Given the description of an element on the screen output the (x, y) to click on. 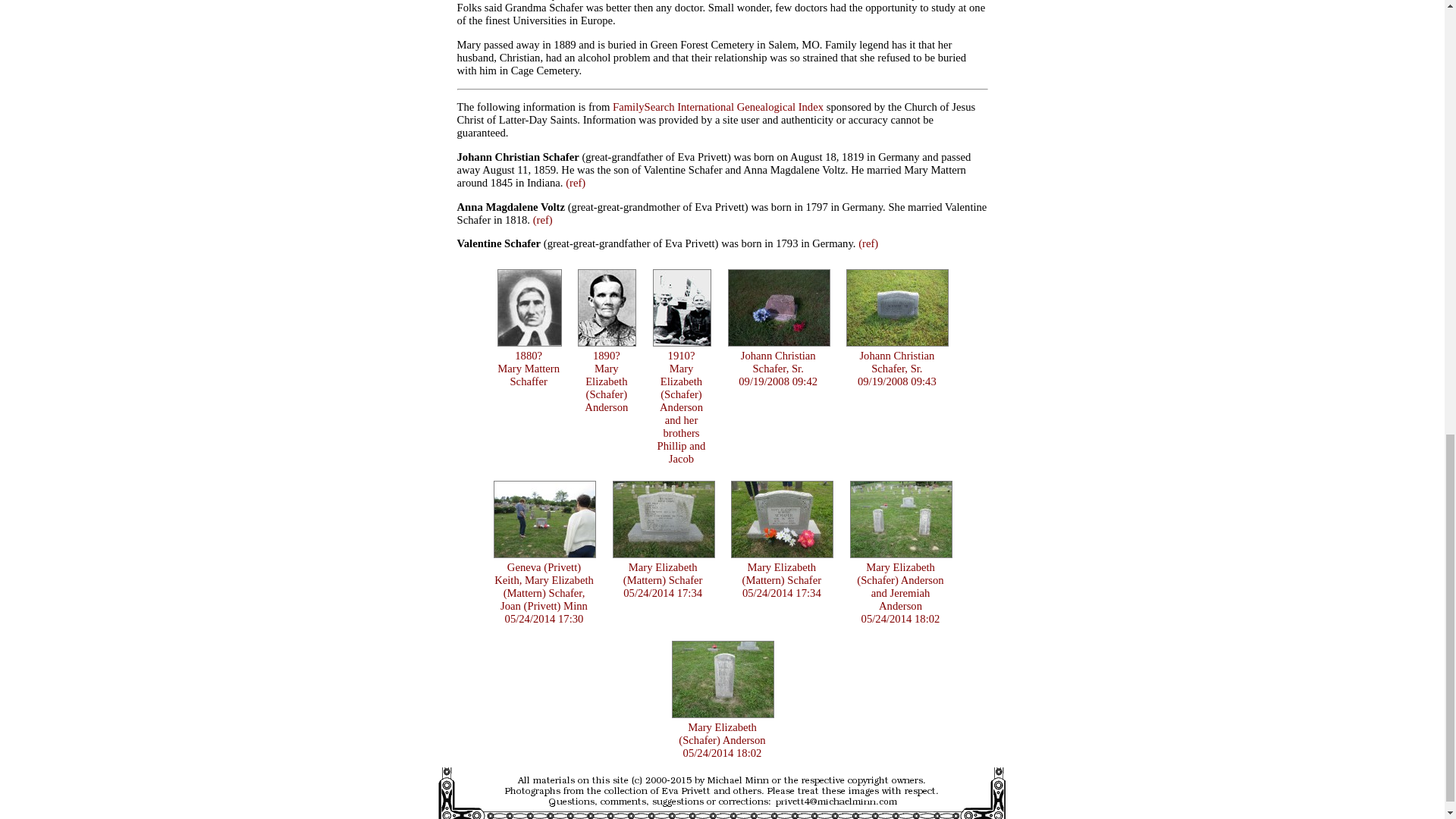
FamilySearch International Genealogical Index (529, 361)
